Given the description of an element on the screen output the (x, y) to click on. 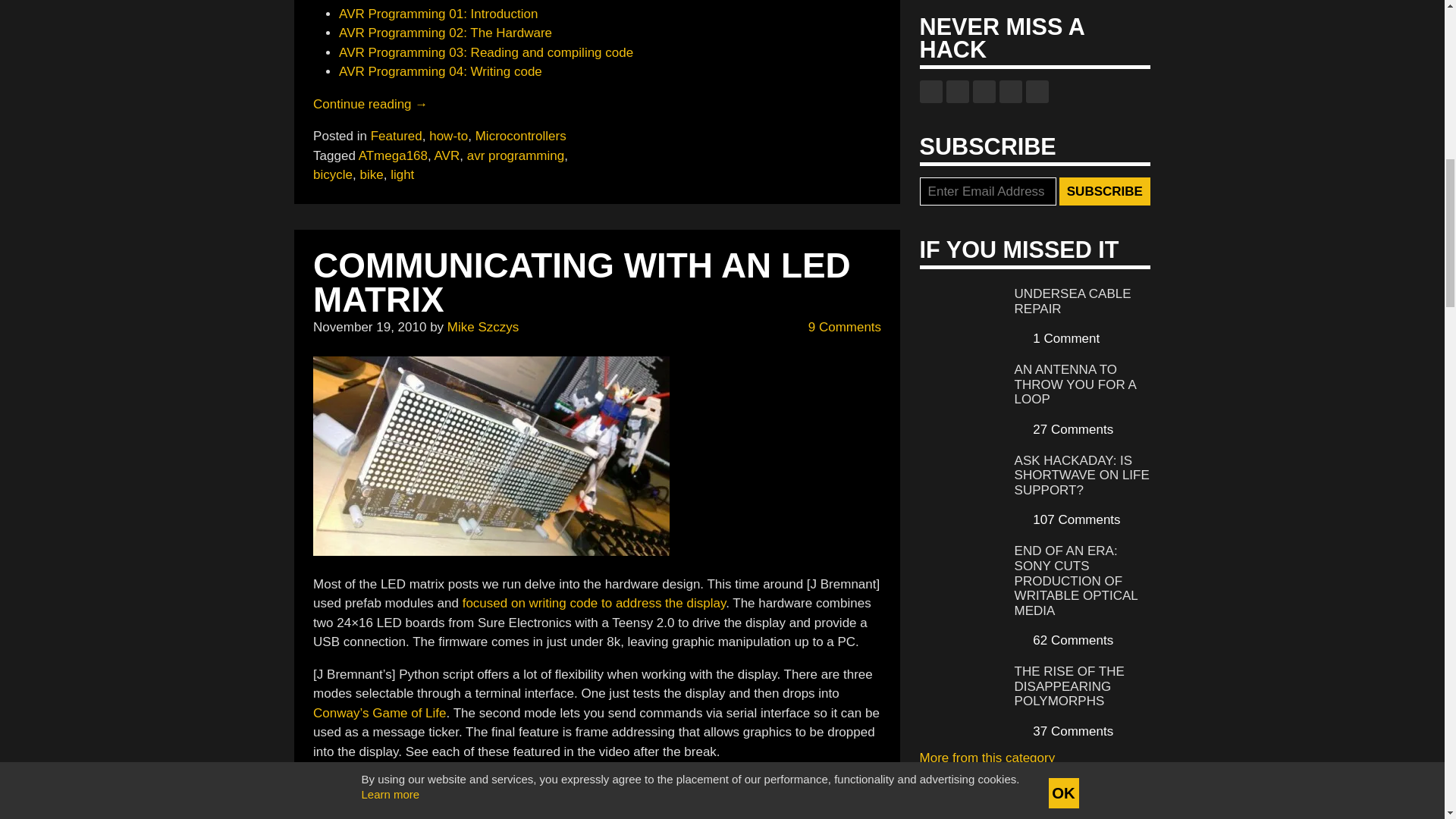
light (401, 174)
Subscribe (1104, 191)
bike (371, 174)
AVR Programming 03: Reading and compiling code (486, 52)
focused on writing code to address the display (594, 603)
Featured (396, 135)
ATmega168 (393, 155)
Posts by Mike Szczys (482, 327)
AVR Programming 04: Writing code (440, 71)
bicycle (332, 174)
COMMUNICATING WITH AN LED MATRIX (581, 282)
how-to (448, 135)
AVR Programming 02: The Hardware (445, 32)
